Given the description of an element on the screen output the (x, y) to click on. 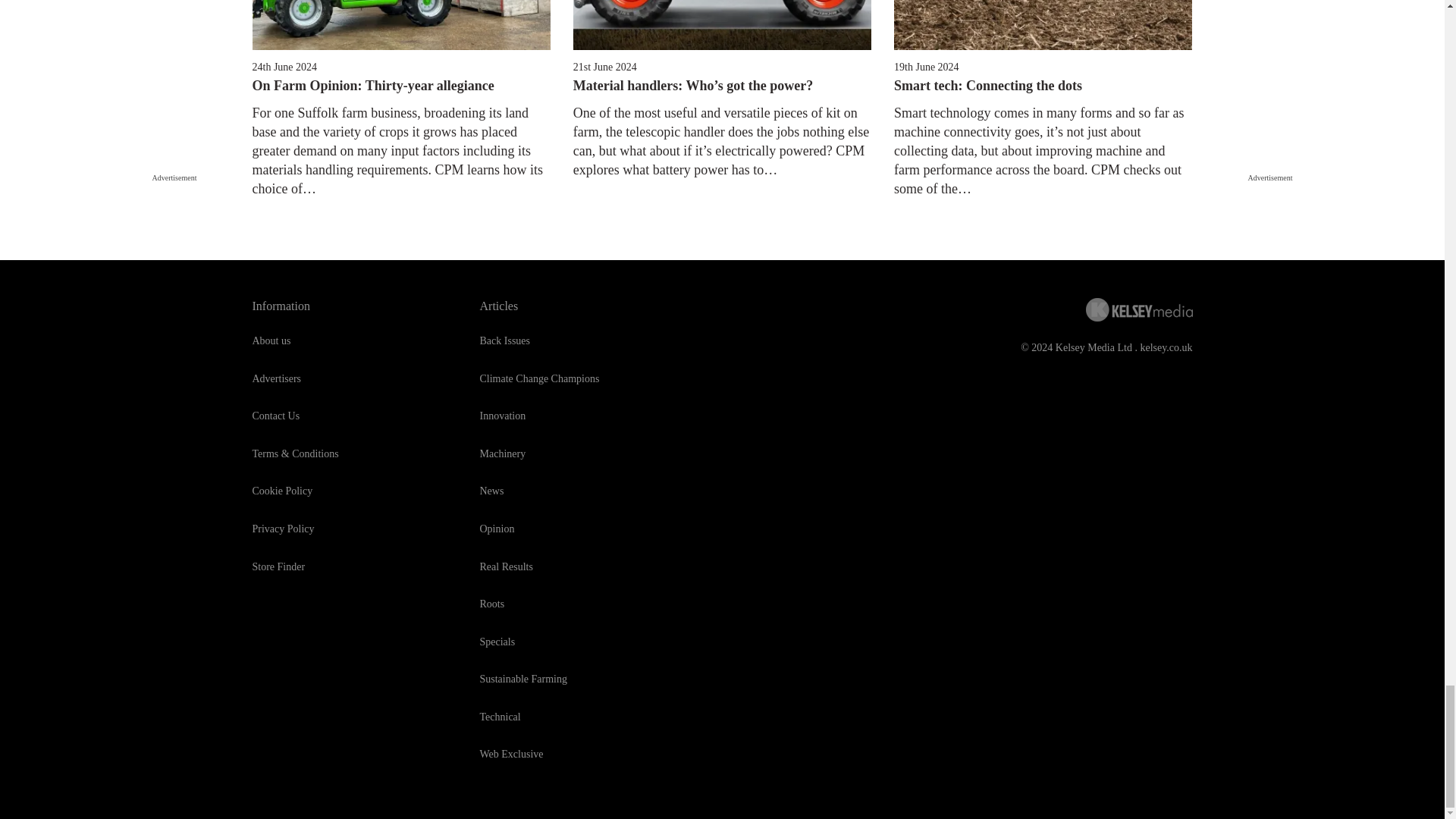
About us (270, 340)
Advertisers (276, 378)
